Given the description of an element on the screen output the (x, y) to click on. 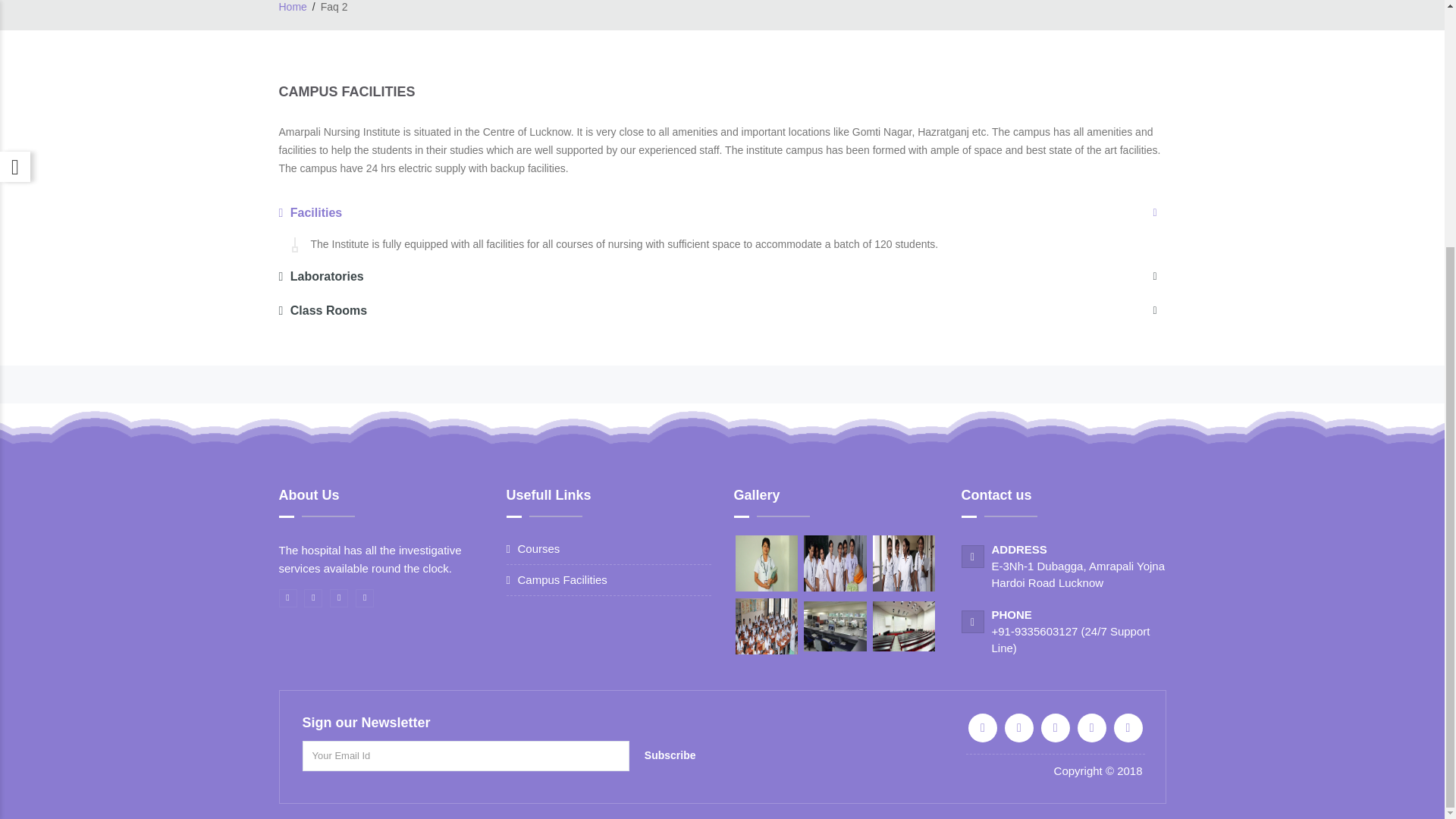
Laboratories (722, 276)
Campus Facilities (561, 579)
Facilities (722, 212)
Courses (537, 548)
Class Rooms (722, 310)
Home (293, 6)
